Given the description of an element on the screen output the (x, y) to click on. 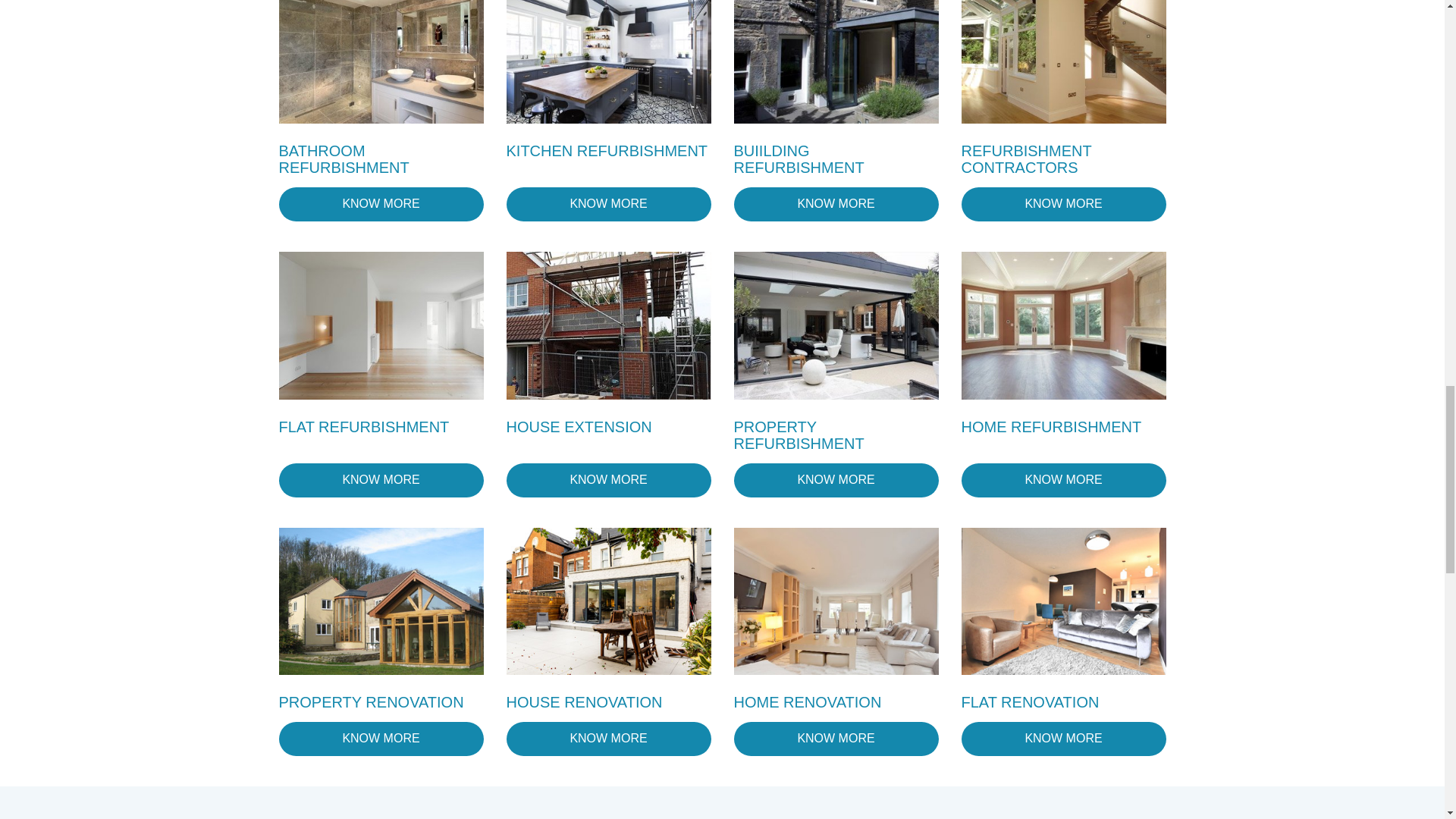
KNOW MORE (381, 738)
KNOW MORE (381, 480)
KNOW MORE (836, 204)
KNOW MORE (1063, 480)
KNOW MORE (608, 738)
KNOW MORE (381, 204)
KNOW MORE (836, 738)
KNOW MORE (836, 480)
KNOW MORE (608, 204)
KNOW MORE (1063, 204)
KNOW MORE (608, 480)
